Given the description of an element on the screen output the (x, y) to click on. 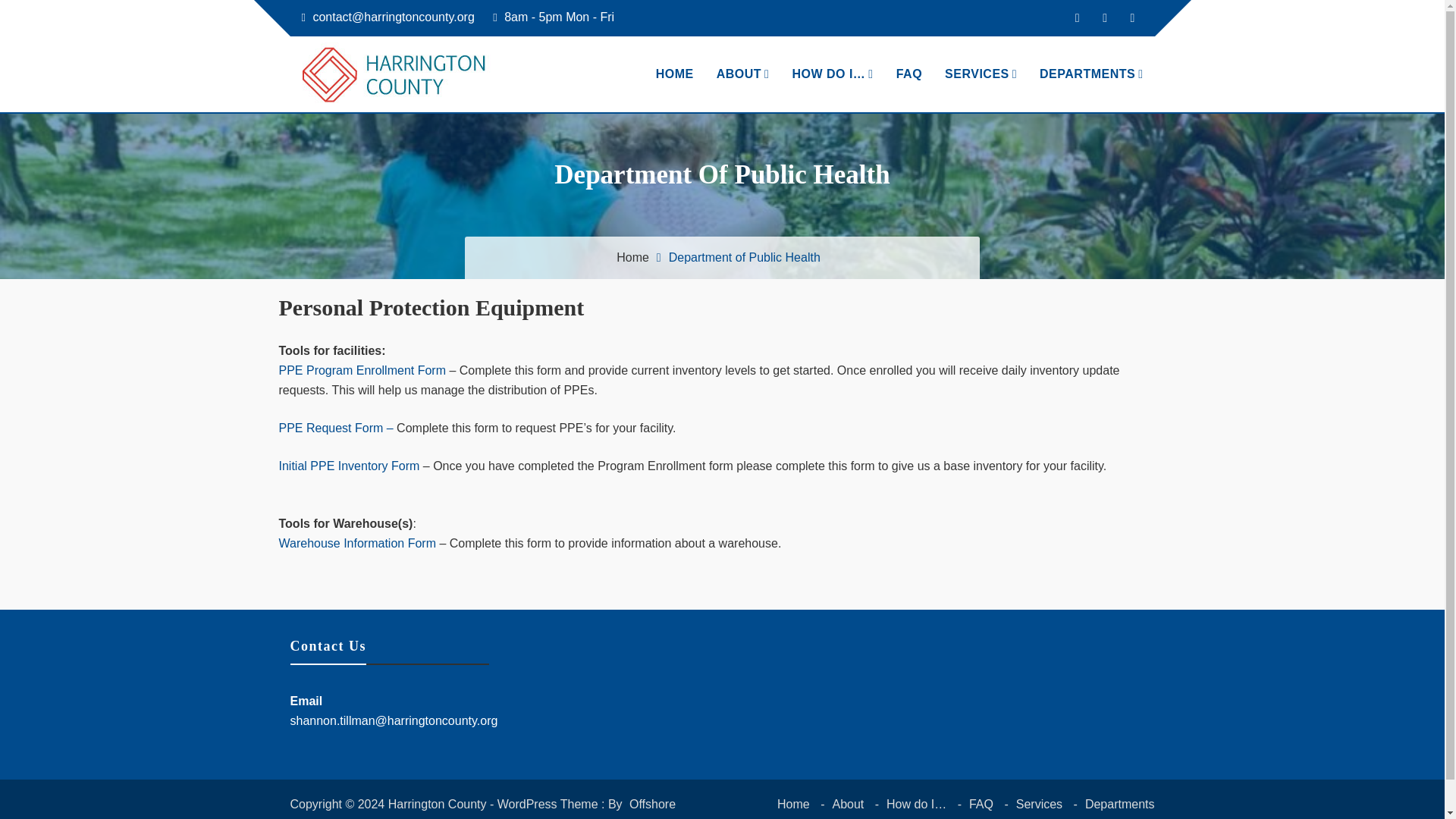
ABOUT (742, 73)
Harrington County (390, 126)
SERVICES (980, 73)
Initial PPE Inventory Form (349, 465)
Offshore Themes (482, 808)
Warehouse Information Form (357, 543)
DEPARTMENTS (1090, 73)
Home (793, 803)
PPE Program Enrollment Form (362, 369)
About (847, 803)
Home (632, 256)
